Given the description of an element on the screen output the (x, y) to click on. 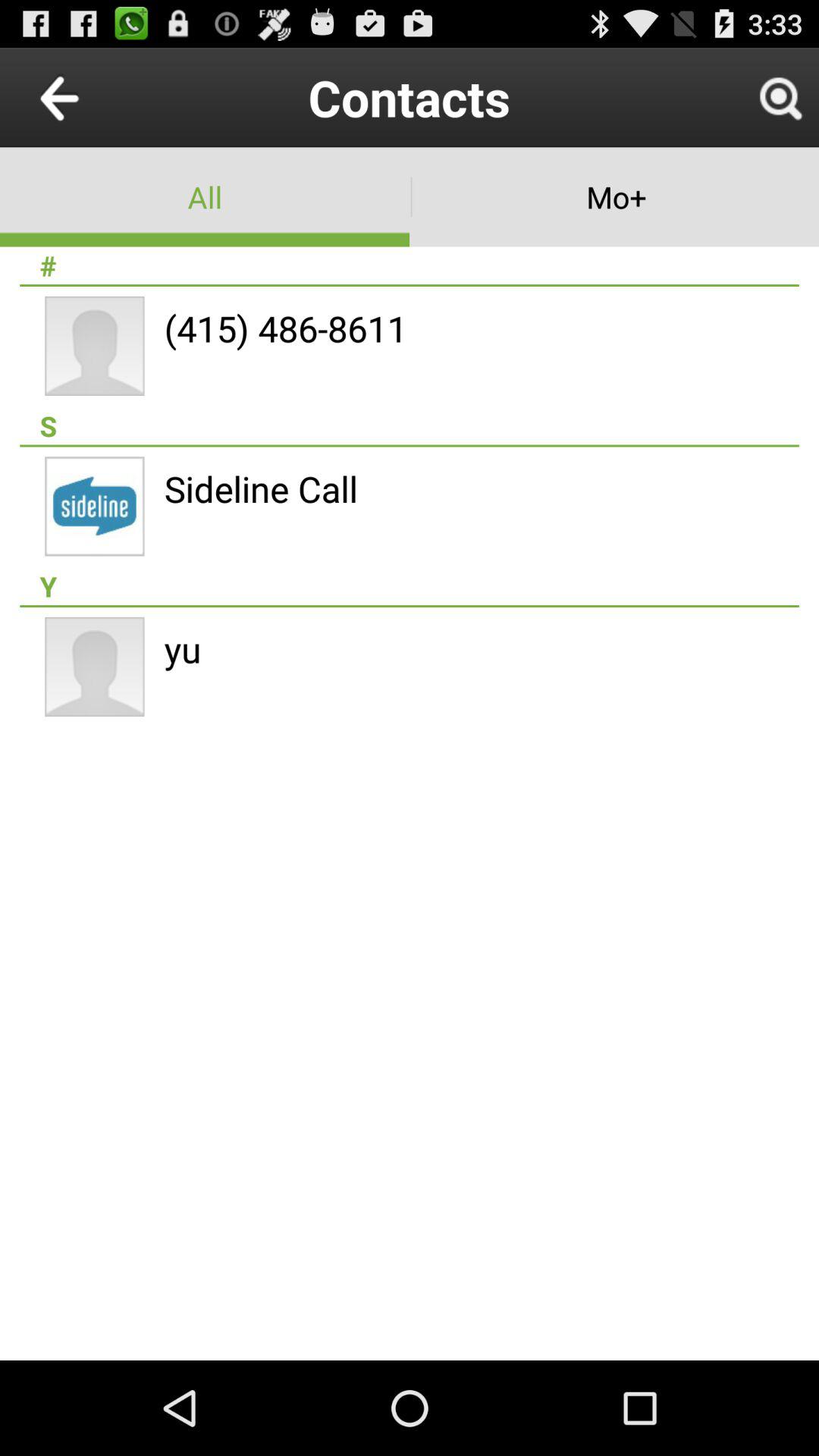
select the item above the # (614, 196)
